Given the description of an element on the screen output the (x, y) to click on. 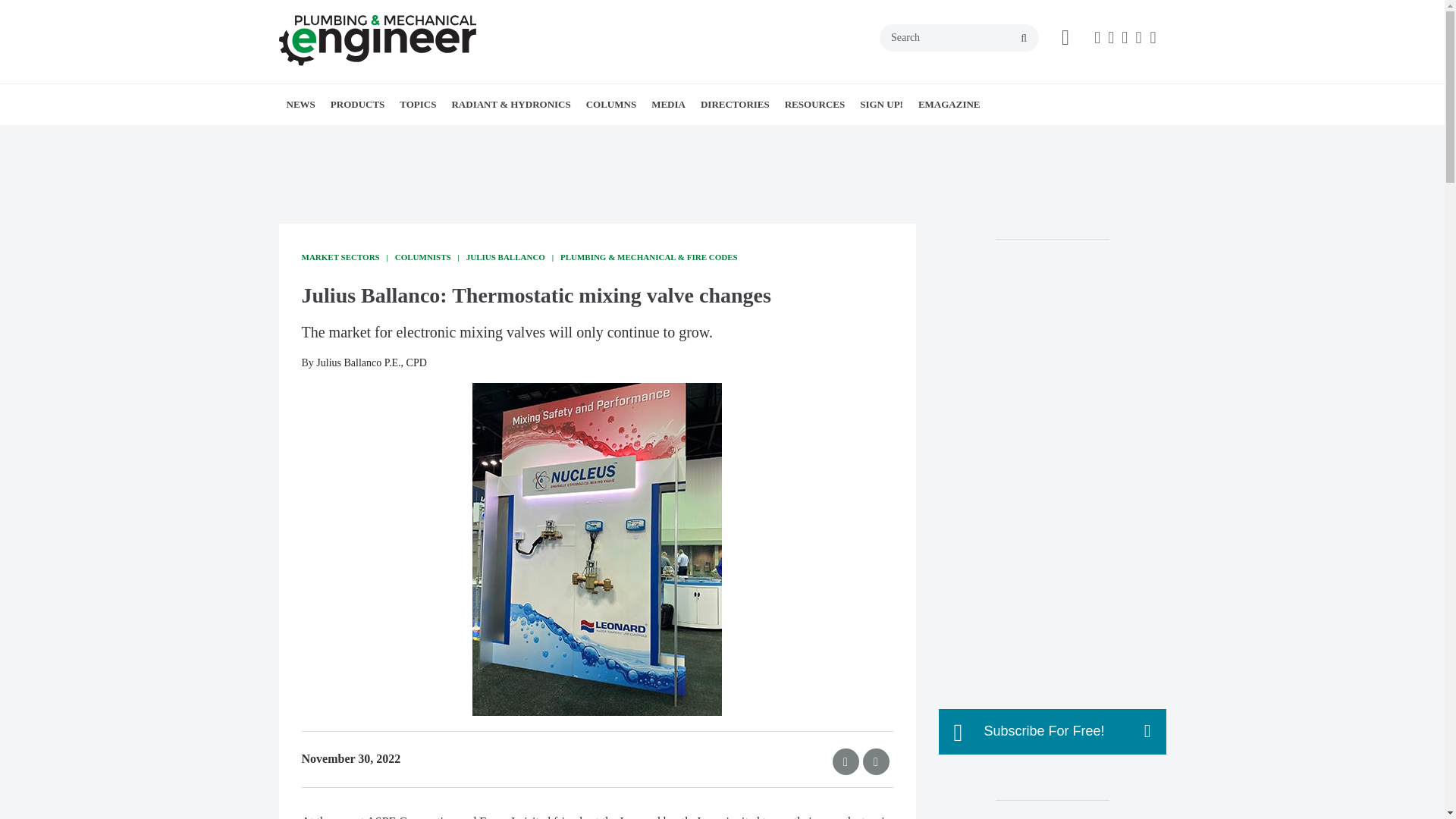
search (1023, 38)
DAN HOLOHAN (699, 137)
COLUMNS (610, 104)
CODES (493, 137)
CHRISTOPH LOHR (704, 137)
JAMES DIPPING (685, 137)
WATER TREATMENT (523, 137)
DAVID DEXTER (679, 137)
Search (959, 37)
TOPICS (417, 104)
NEWS (301, 104)
TECHNOLOGY (526, 137)
PRODUCTS (358, 104)
FIRE PROTECTION (528, 137)
PLUMBING GROUP PIPELINE (373, 137)
